Given the description of an element on the screen output the (x, y) to click on. 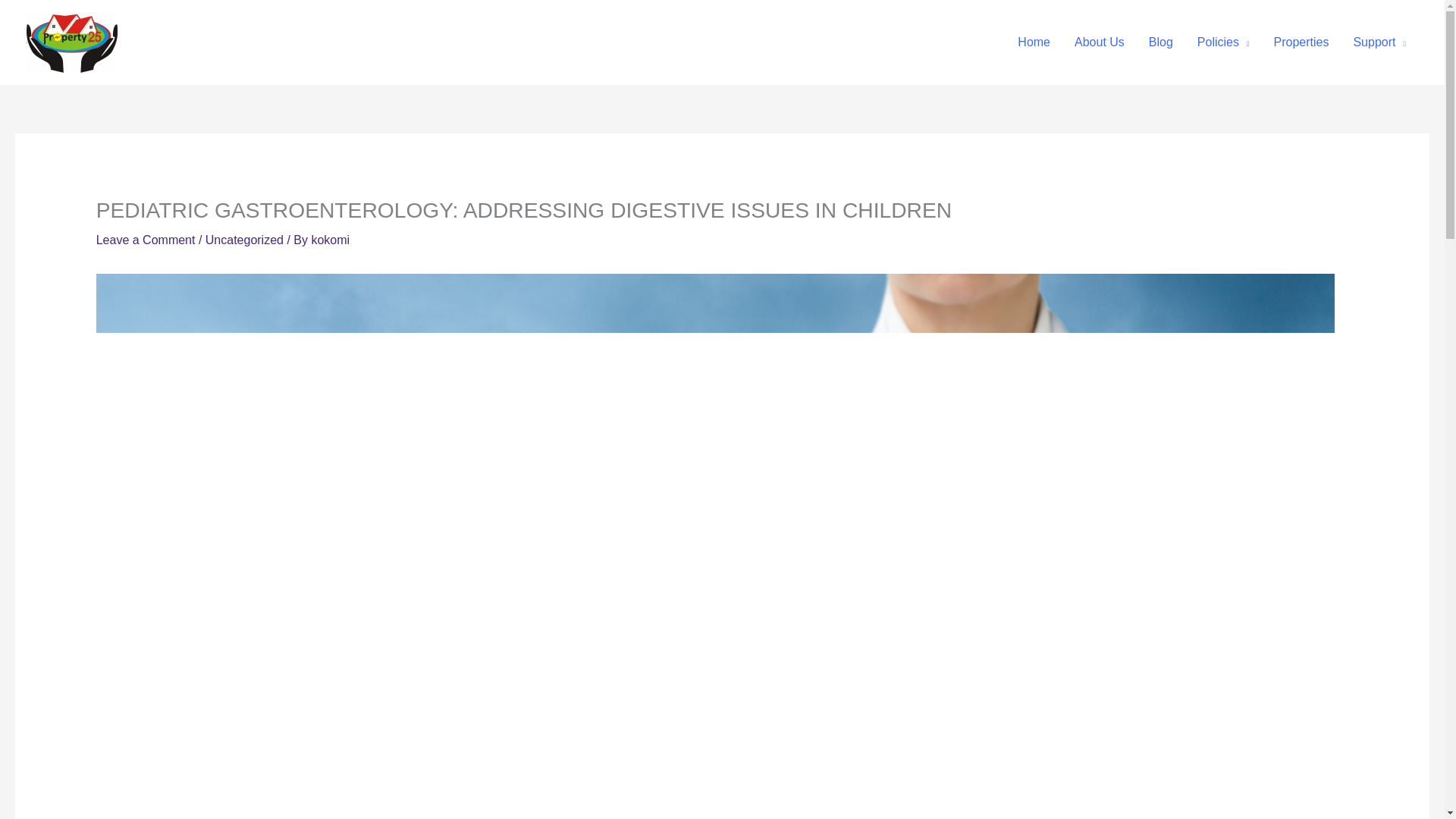
Blog (1161, 41)
Policies (1223, 41)
Properties (1301, 41)
Uncategorized (244, 239)
About Us (1099, 41)
Home (1034, 41)
View all posts by kokomi (330, 239)
Support (1379, 41)
kokomi (330, 239)
Leave a Comment (145, 239)
